Given the description of an element on the screen output the (x, y) to click on. 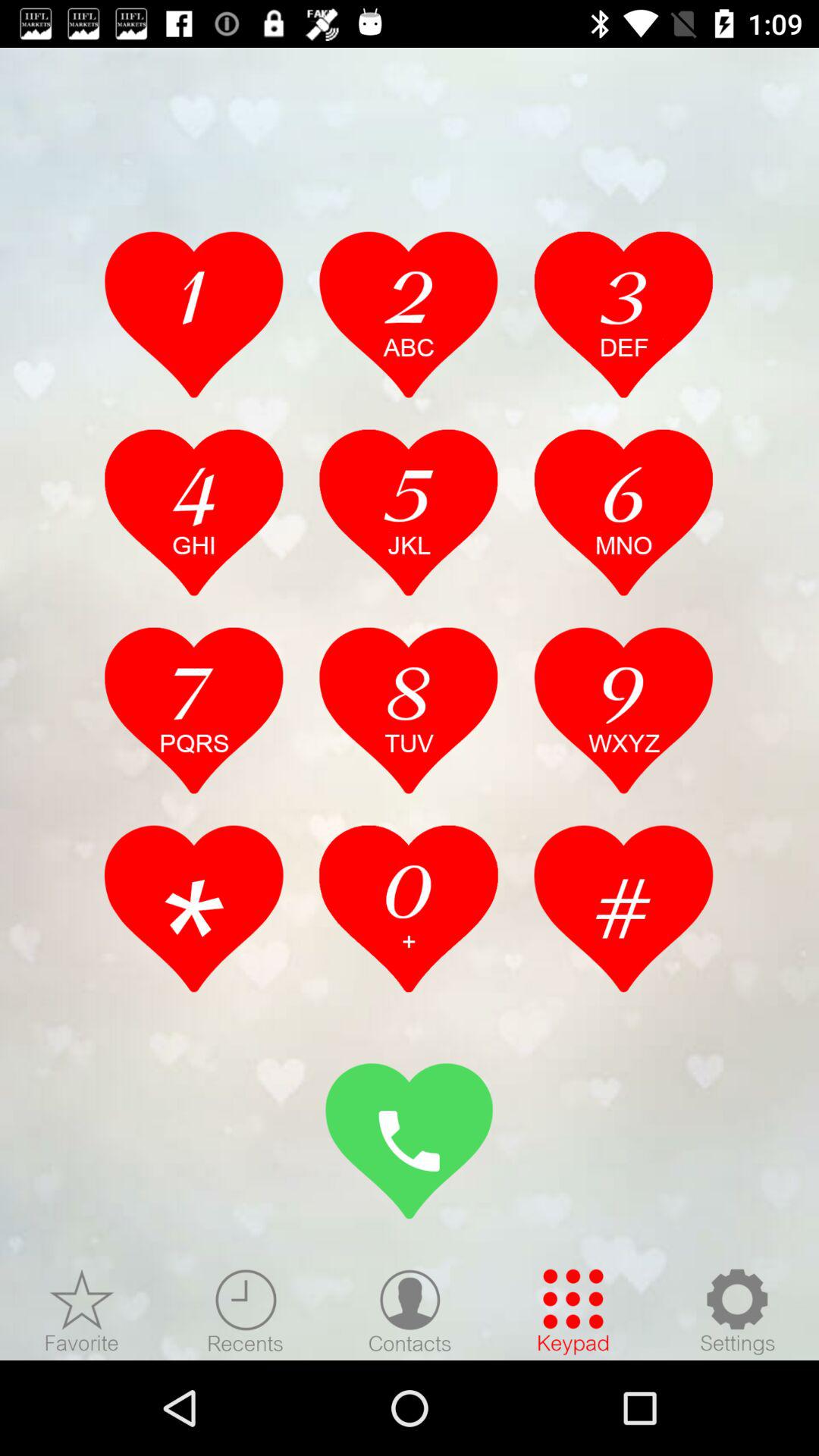
dial number (408, 314)
